Given the description of an element on the screen output the (x, y) to click on. 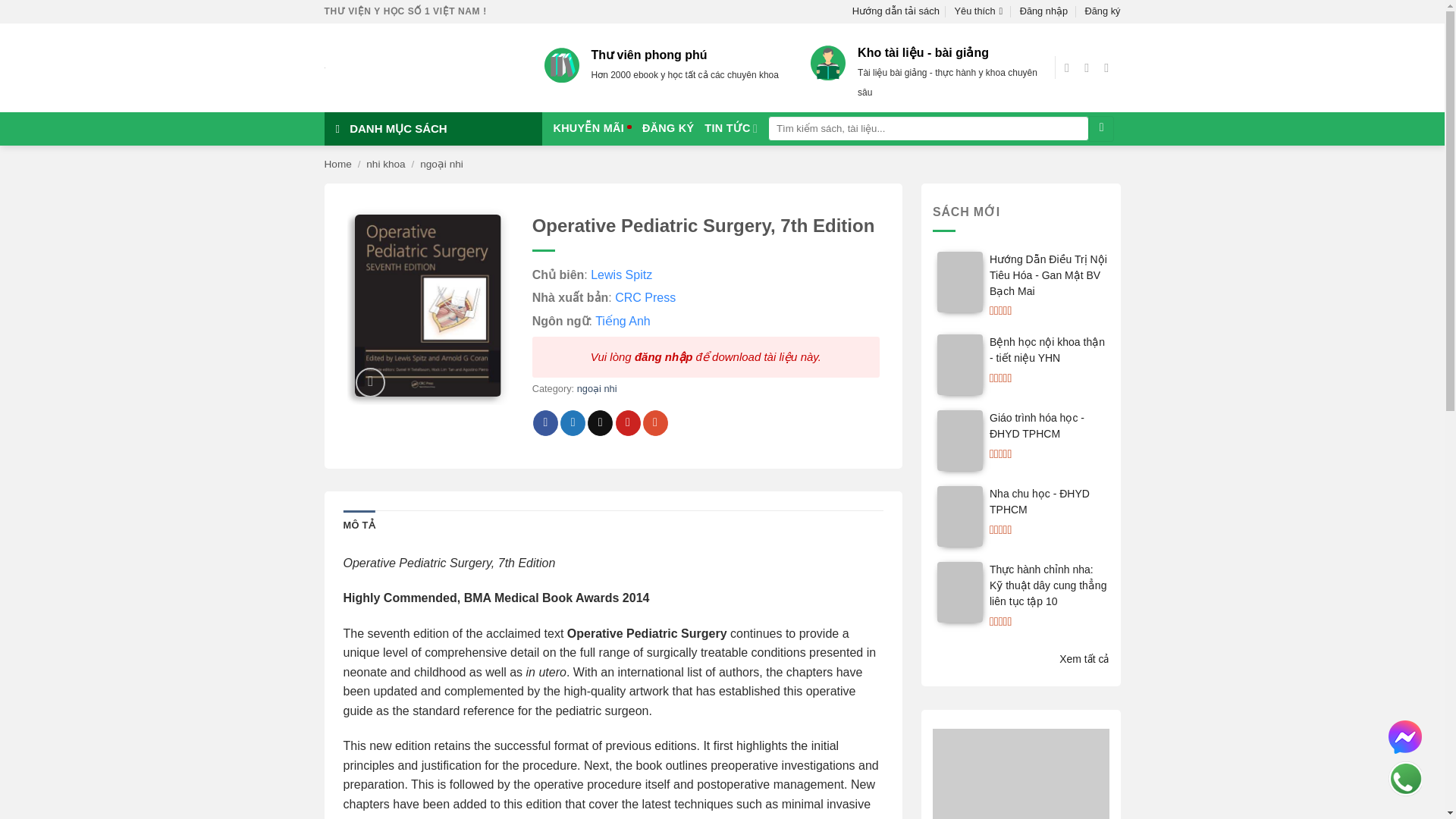
Follow on Twitter (1109, 67)
Share on Twitter (572, 422)
Email to a Friend (600, 422)
Follow on Instagram (1090, 67)
Pin on Pinterest (627, 422)
Share on Facebook (544, 422)
Zoom (370, 382)
